Given the description of an element on the screen output the (x, y) to click on. 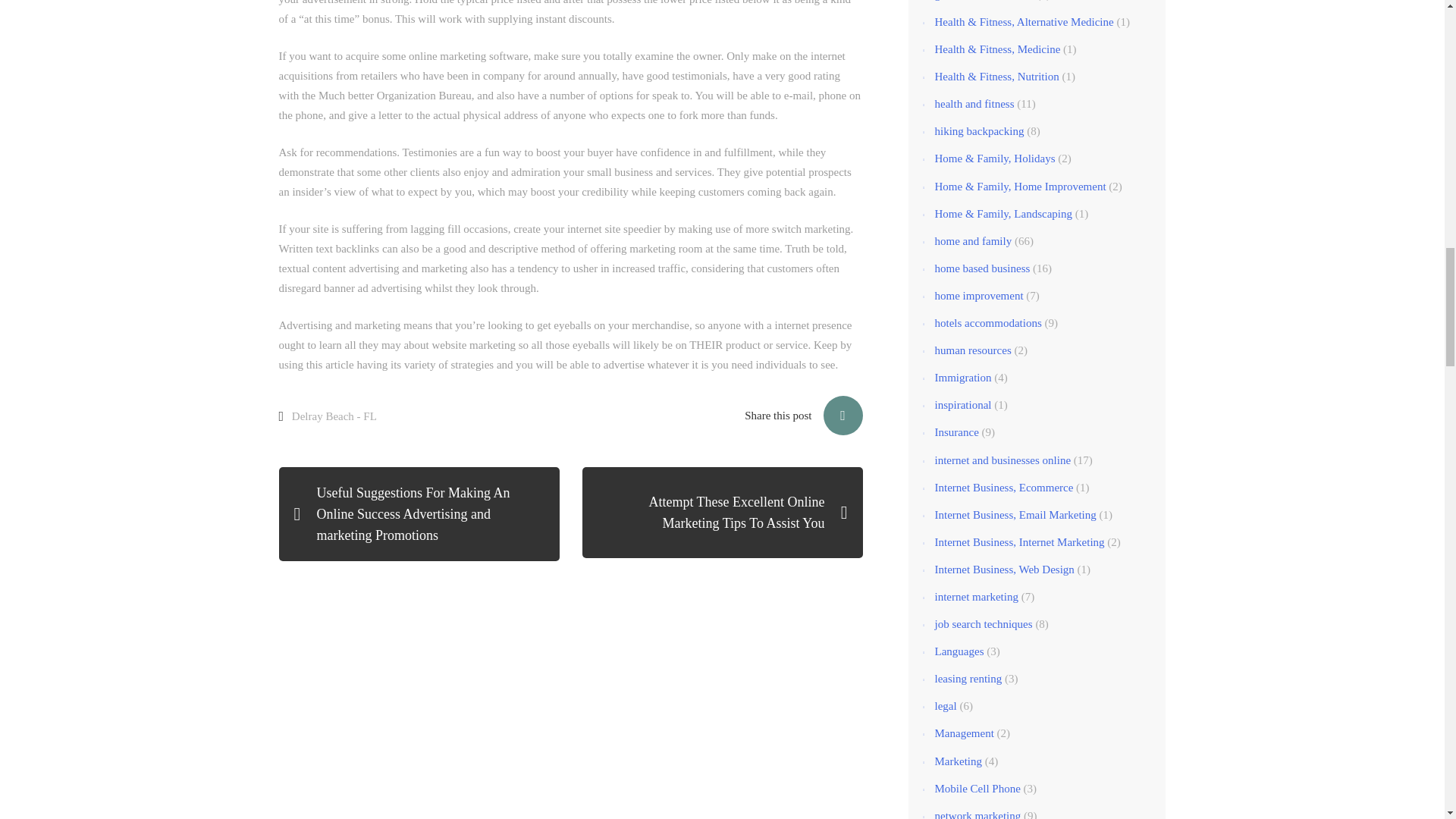
Delray Beach - FL (334, 415)
Attempt These Excellent Online Marketing Tips To Assist You (722, 511)
